Given the description of an element on the screen output the (x, y) to click on. 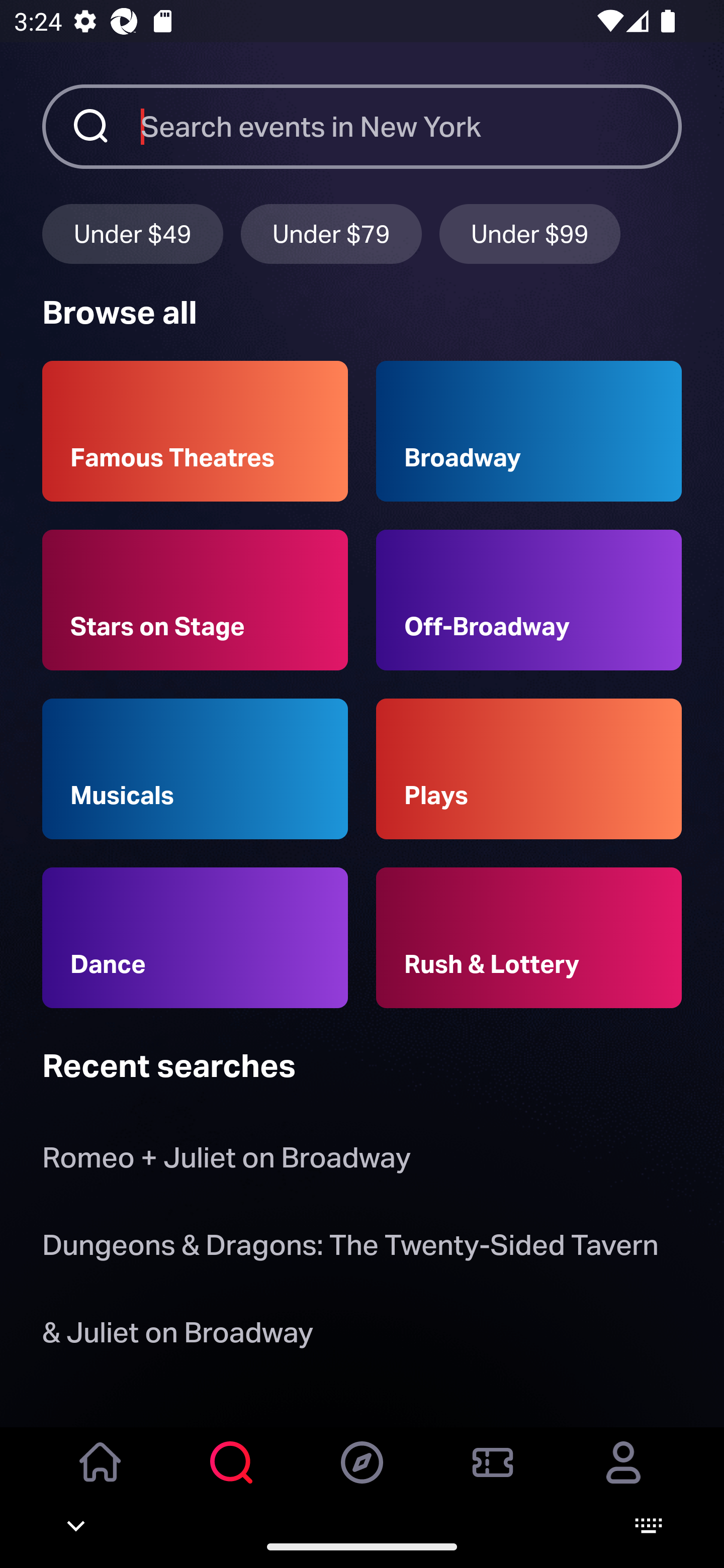
Search events in New York (411, 126)
Under $49 (131, 233)
Under $79 (331, 233)
Under $99 (529, 233)
Famous Theatres (194, 430)
Broadway (528, 430)
Stars on Stage (194, 600)
Off-Broadway (528, 600)
Musicals (194, 768)
Plays (528, 768)
Dance (194, 937)
Rush & Lottery (528, 937)
Romeo + Juliet on Broadway (225, 1161)
Dungeons & Dragons: The Twenty-Sided Tavern (349, 1248)
& Juliet on Broadway  (180, 1335)
Home (100, 1475)
Discover (361, 1475)
Orders (492, 1475)
Account (623, 1475)
